Given the description of an element on the screen output the (x, y) to click on. 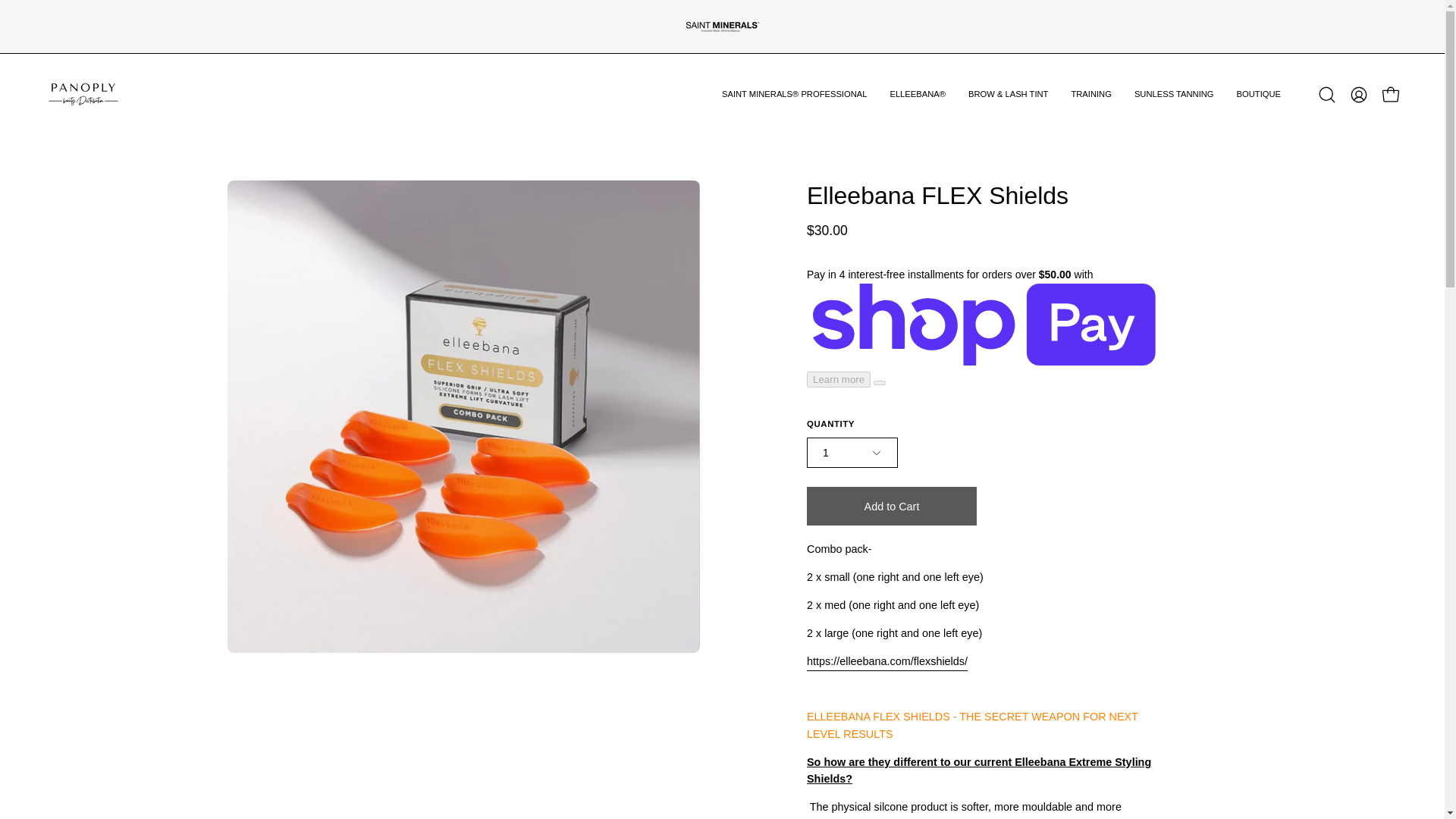
View Panoply Beauty  on Facebook (273, 762)
Open search bar (1326, 94)
WHERE TO BUY ELLEEBANA (711, 457)
View Panoply Beauty  on Youtube (308, 762)
View Panoply Beauty  on Instagram (238, 762)
